Given the description of an element on the screen output the (x, y) to click on. 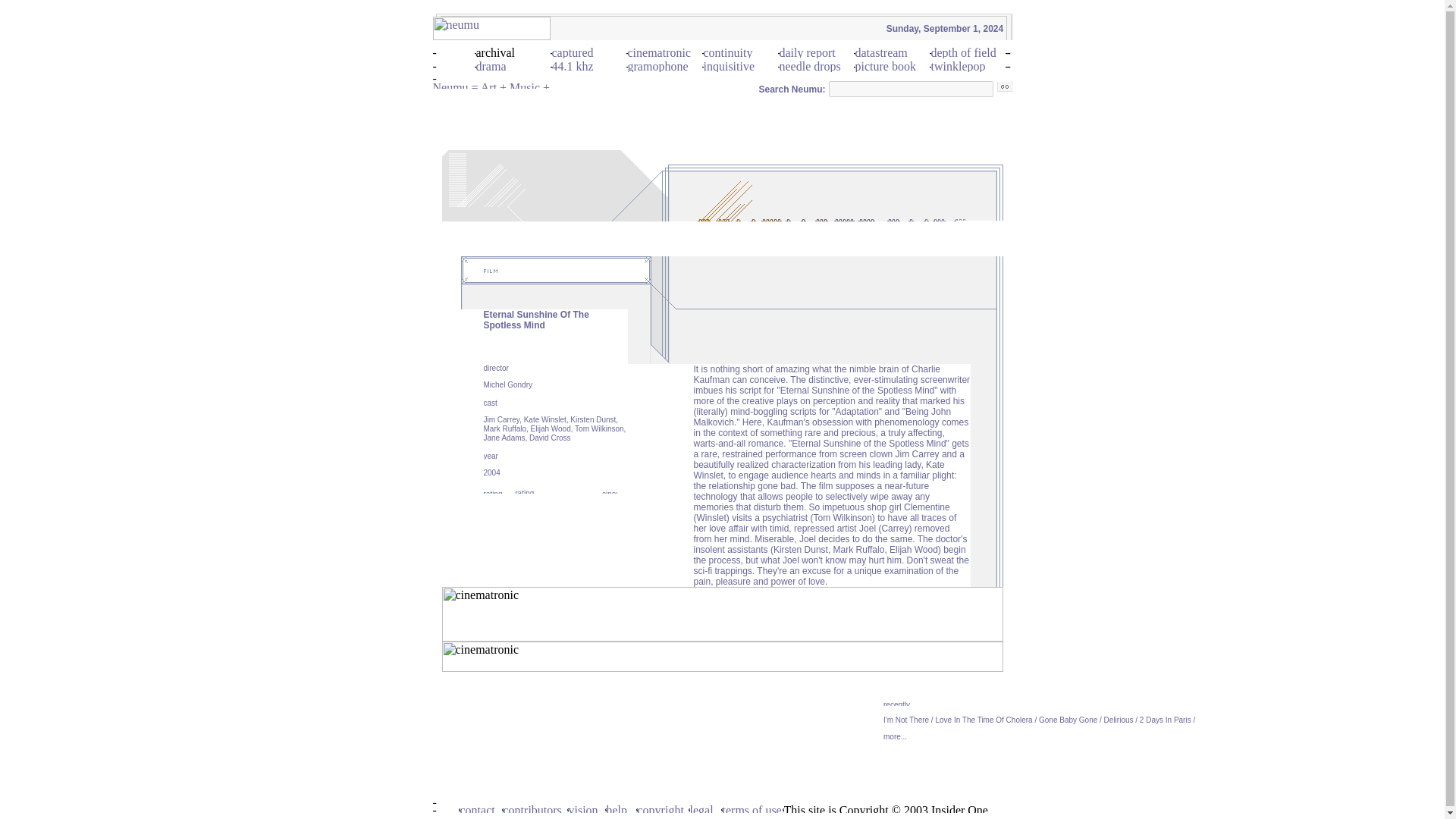
Delirious (1118, 719)
Gone Baby Gone (1068, 719)
more... (895, 736)
2 Days In Paris (1165, 719)
I'm Not There (905, 719)
Eternal Sunshine Of The Spotless Mind (536, 319)
Love In The Time Of Cholera (983, 719)
